Given the description of an element on the screen output the (x, y) to click on. 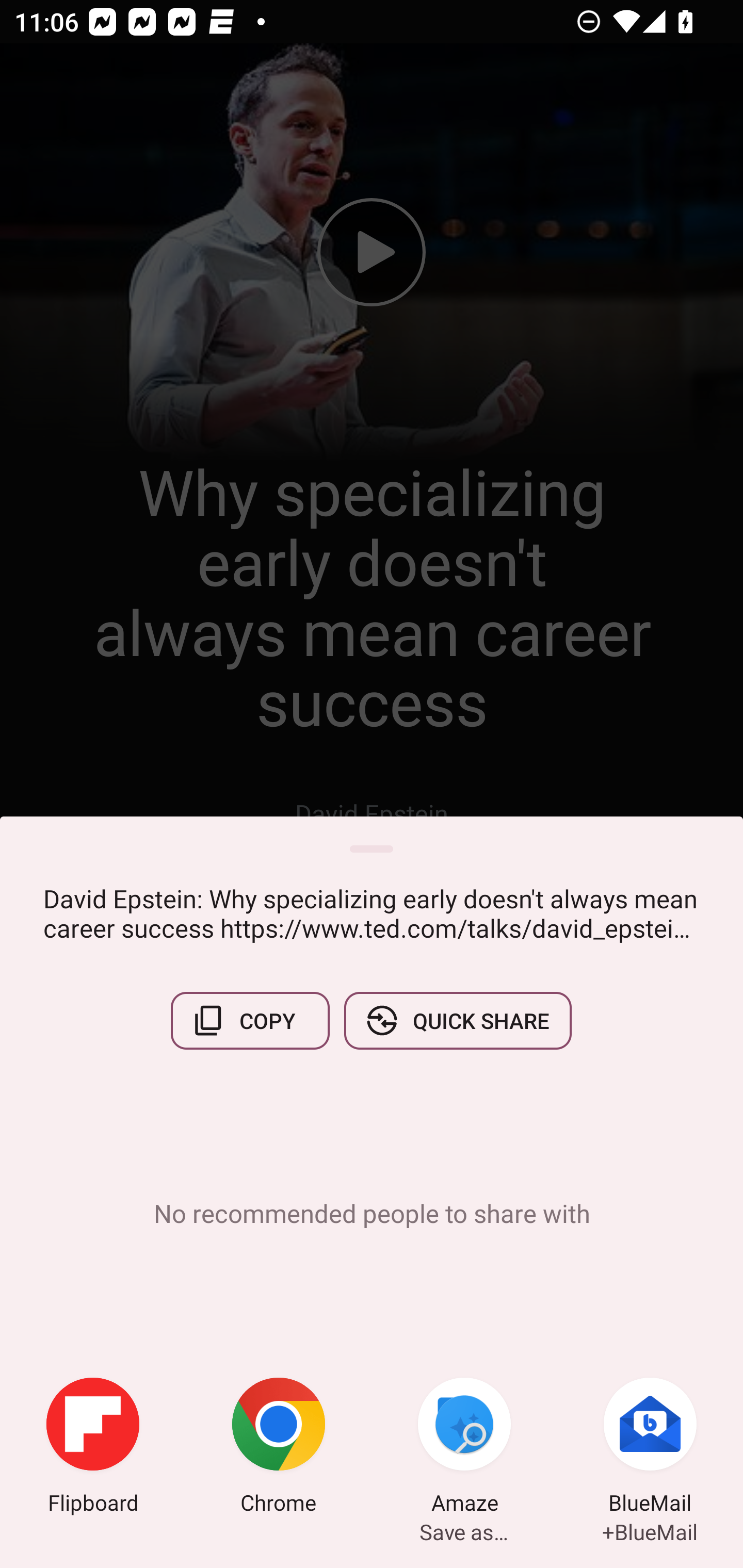
COPY (249, 1020)
QUICK SHARE (457, 1020)
Flipboard (92, 1448)
Chrome (278, 1448)
Amaze Save as… (464, 1448)
BlueMail +BlueMail (650, 1448)
